Given the description of an element on the screen output the (x, y) to click on. 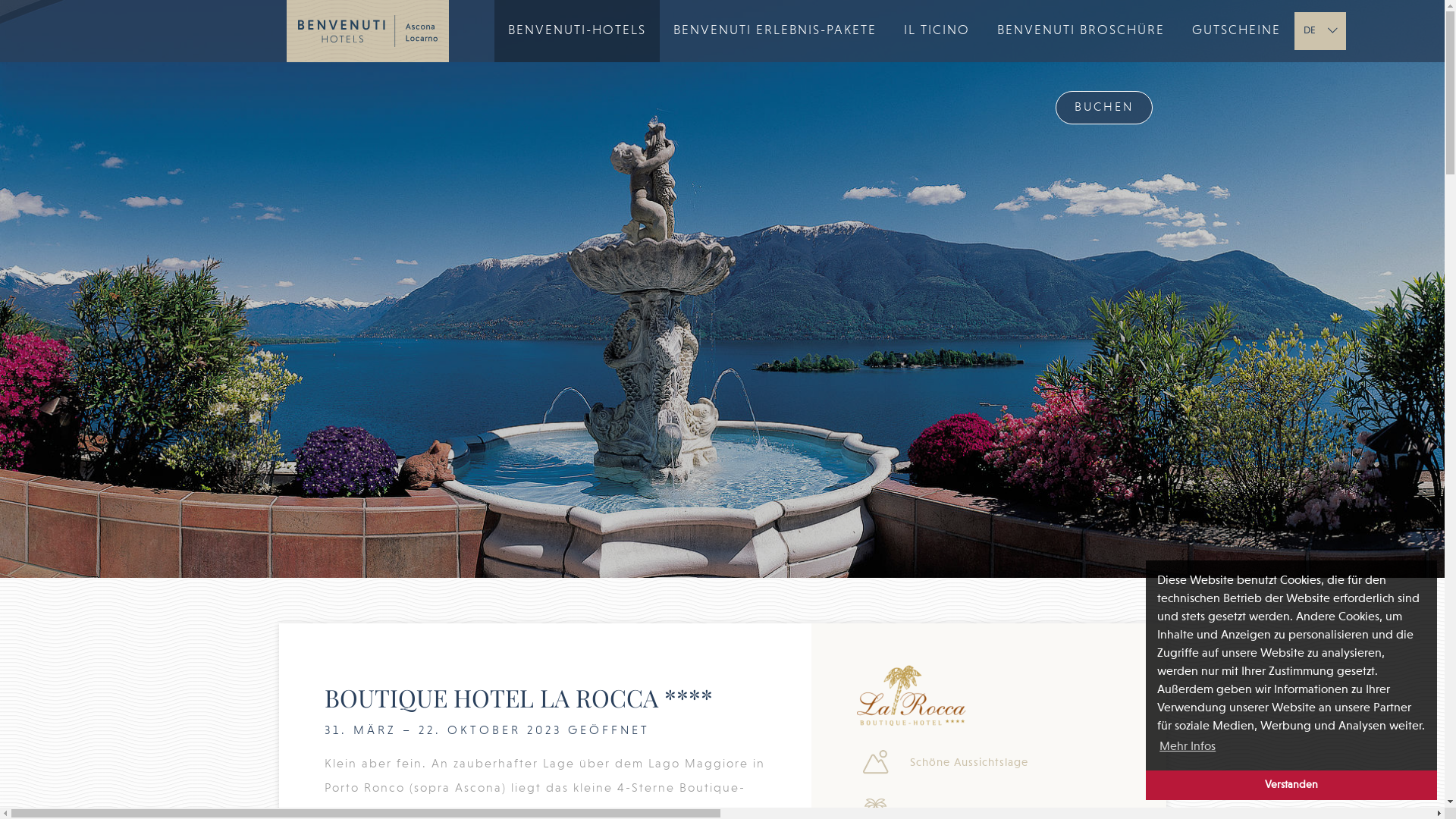
IL TICINO Element type: text (936, 31)
GUTSCHEINE Element type: text (1236, 31)
BUCHEN Element type: text (1103, 107)
Verstanden Element type: text (1291, 785)
BENVENUTI ERLEBNIS-PAKETE Element type: text (774, 31)
Mehr Infos Element type: text (1187, 746)
BENVENUTI-HOTELS Element type: text (576, 31)
